Given the description of an element on the screen output the (x, y) to click on. 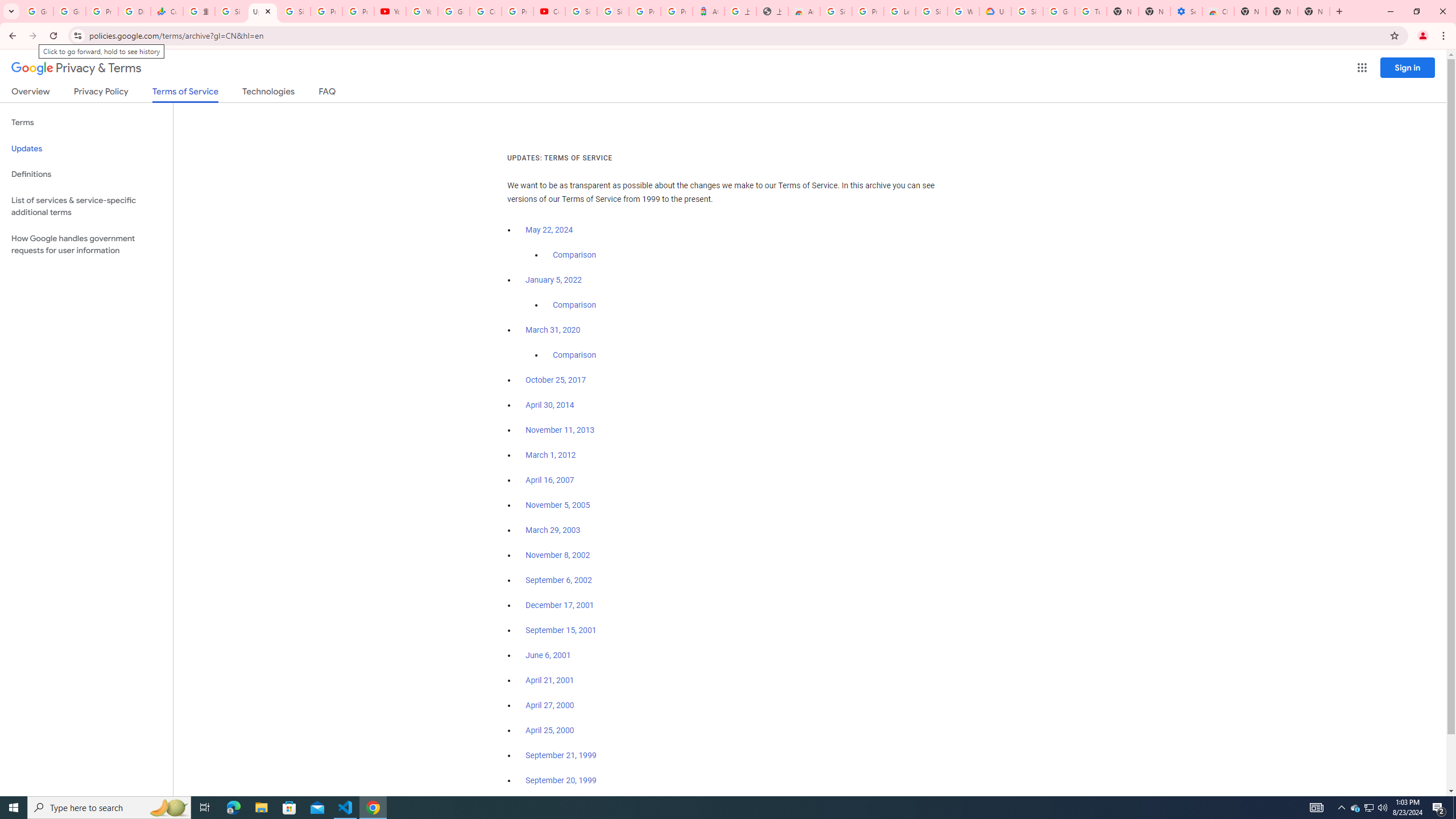
Google Account Help (453, 11)
Sign in - Google Accounts (613, 11)
November 5, 2005 (557, 505)
New Tab (1313, 11)
September 21, 1999 (560, 755)
Chrome Web Store - Accessibility extensions (1217, 11)
Sign in - Google Accounts (581, 11)
